Given the description of an element on the screen output the (x, y) to click on. 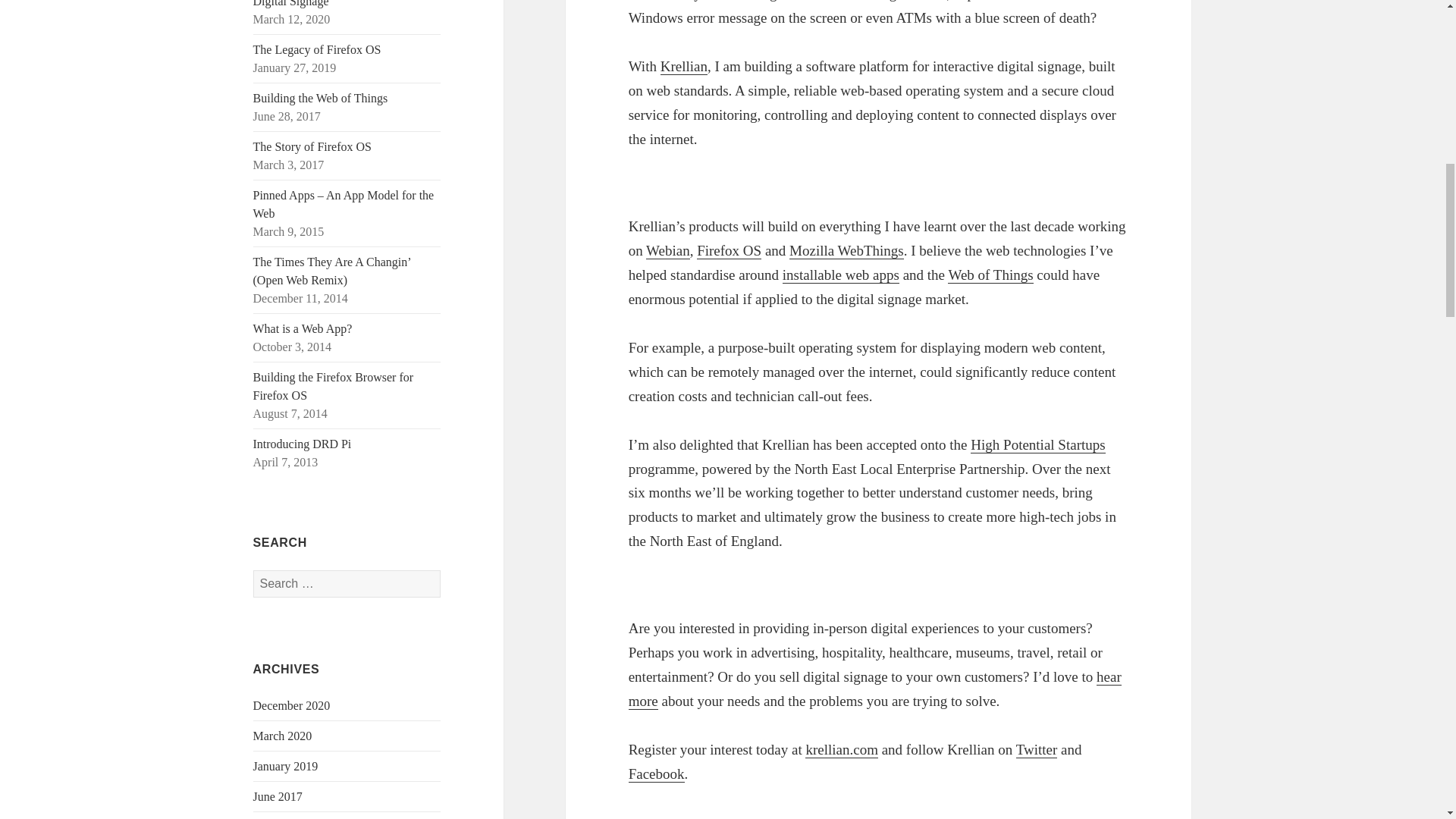
Building the Web of Things (320, 97)
March 2020 (283, 735)
December 2020 (291, 705)
January 2019 (285, 766)
The Story of Firefox OS (312, 146)
Introducing DRD Pi (302, 443)
June 2017 (277, 796)
Building the Firefox Browser for Firefox OS (333, 386)
The Legacy of Firefox OS (317, 49)
What is a Web App? (302, 328)
